Given the description of an element on the screen output the (x, y) to click on. 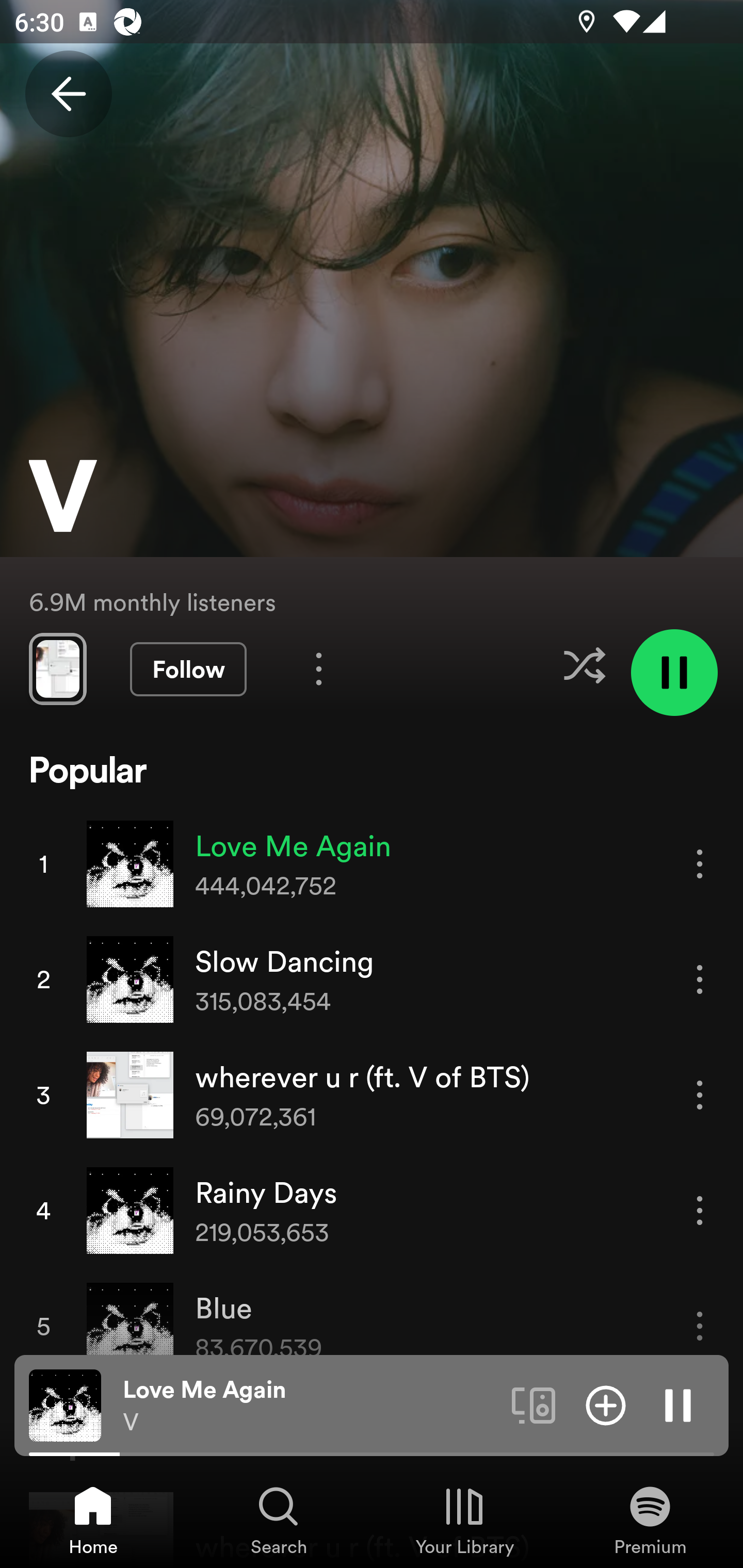
Back (68, 93)
Enable shuffle for this artist (583, 665)
More options for artist V (318, 668)
Pause artist (674, 672)
Follow (188, 669)
More options for song Love Me Again (699, 863)
More options for song Slow Dancing (699, 979)
More options for song wherever u r (ft. V of BTS) (699, 1095)
More options for song Rainy Days (699, 1210)
More options for song Blue (699, 1325)
Love Me Again V (309, 1405)
The cover art of the currently playing track (64, 1404)
Connect to a device. Opens the devices menu (533, 1404)
Add item (605, 1404)
Pause (677, 1404)
Home, Tab 1 of 4 Home Home (92, 1519)
Search, Tab 2 of 4 Search Search (278, 1519)
Your Library, Tab 3 of 4 Your Library Your Library (464, 1519)
Premium, Tab 4 of 4 Premium Premium (650, 1519)
